Given the description of an element on the screen output the (x, y) to click on. 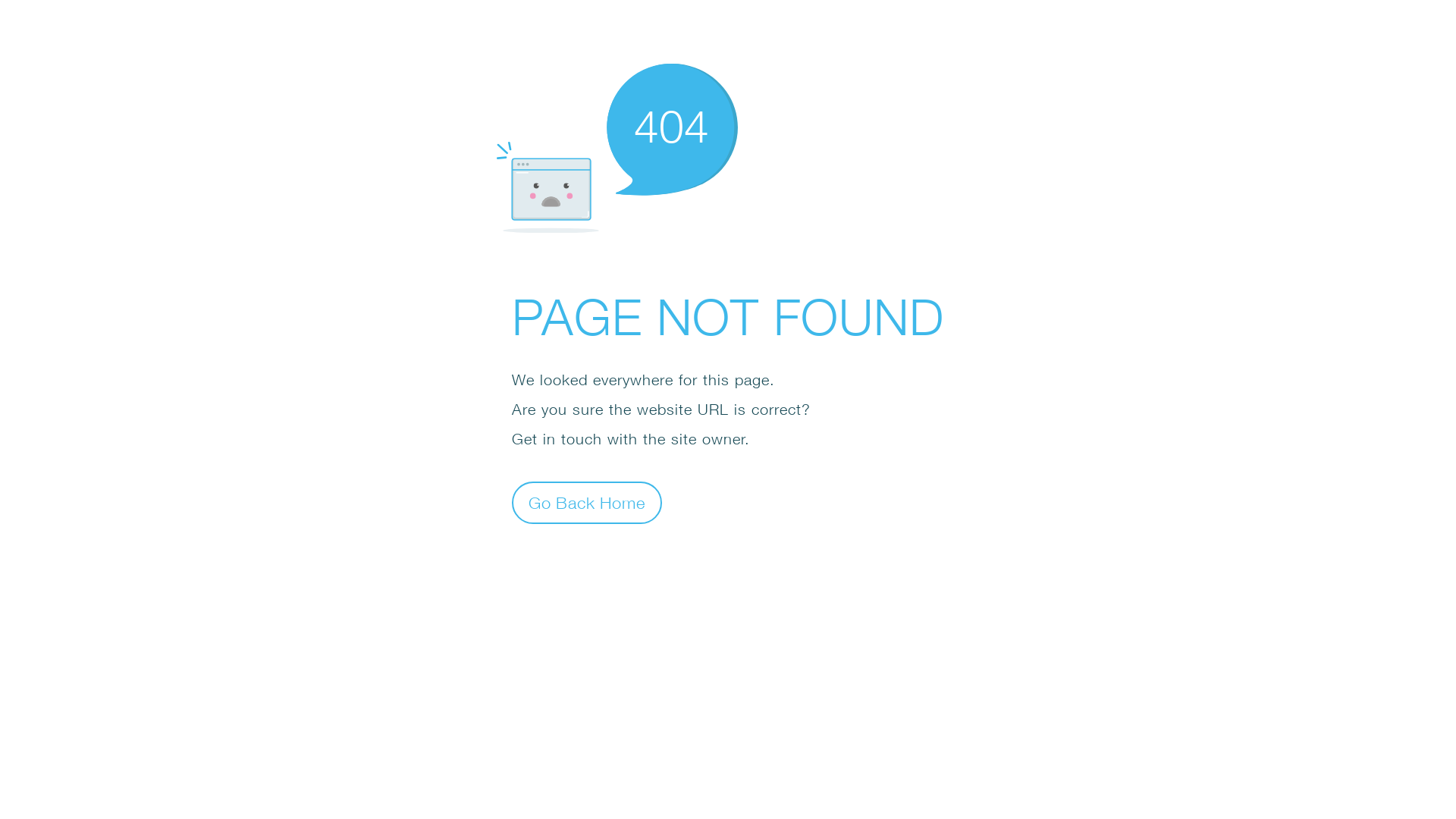
Go Back Home Element type: text (586, 502)
